Given the description of an element on the screen output the (x, y) to click on. 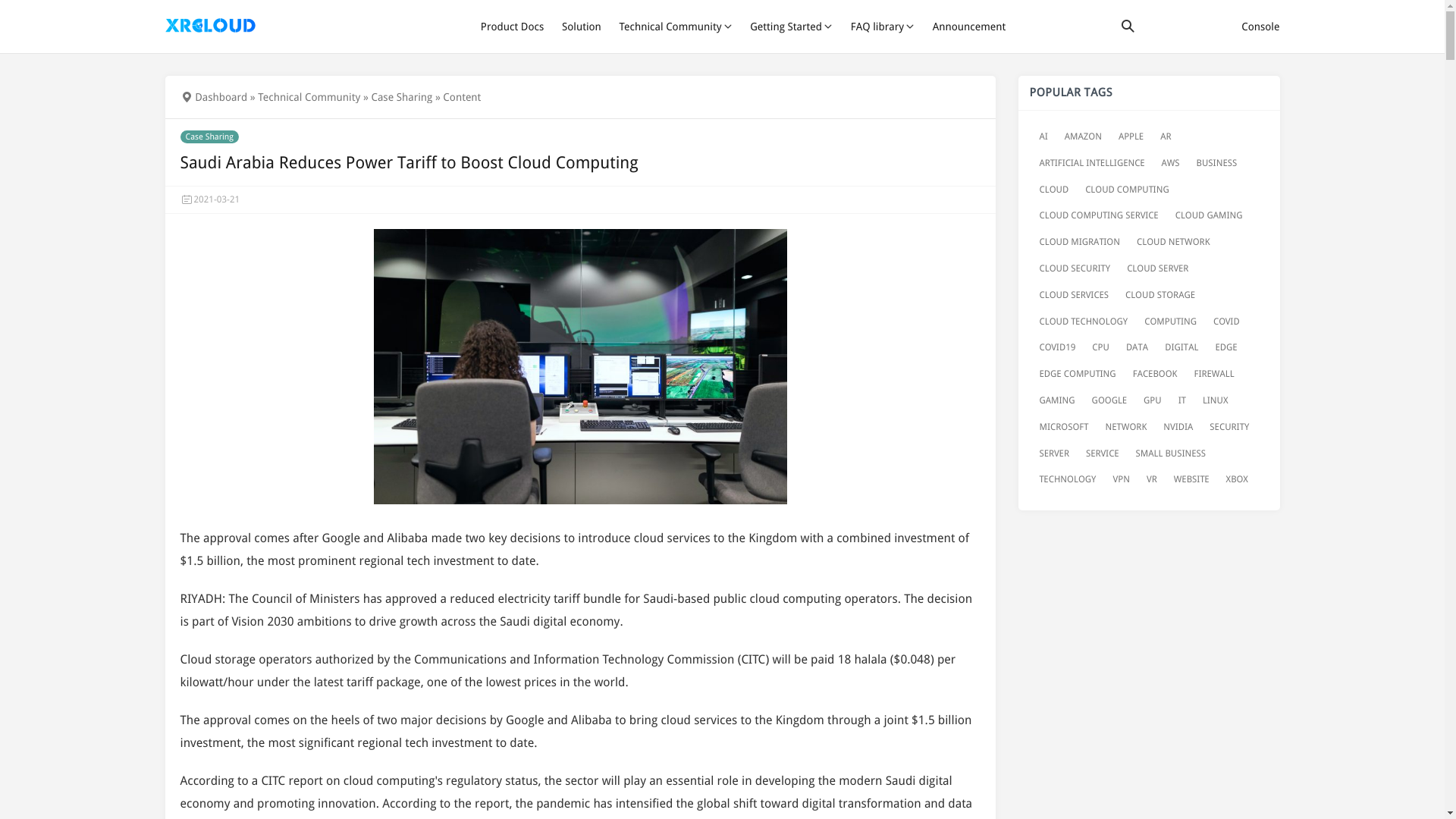
Announcement (969, 26)
Getting Started (790, 27)
Technical Community (675, 27)
FAQ library (882, 27)
Console (1260, 26)
Product Docs (512, 26)
